Given the description of an element on the screen output the (x, y) to click on. 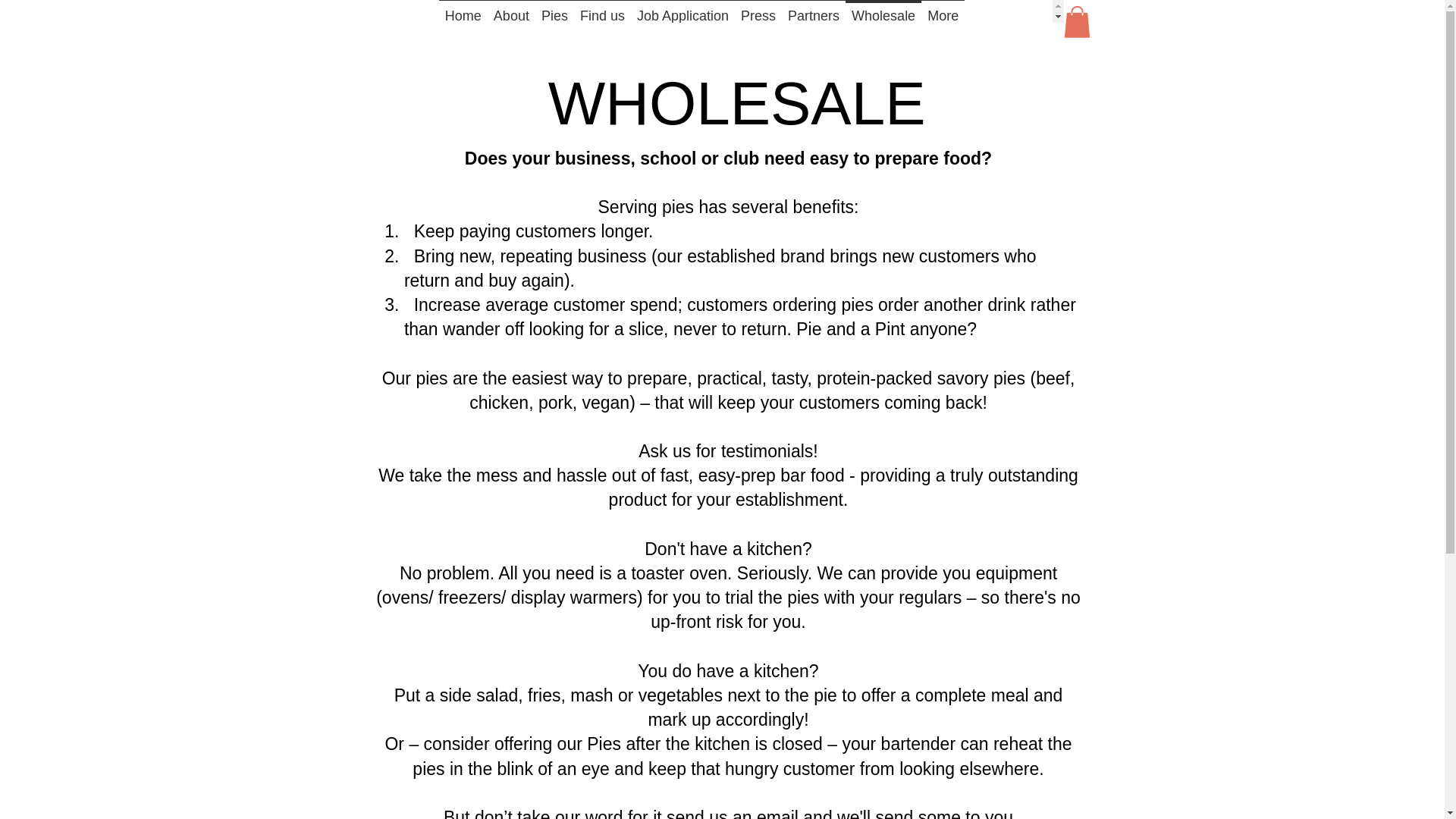
Pies (554, 11)
Partners (813, 11)
Home (463, 11)
Find us (601, 11)
Press (758, 11)
About (511, 11)
Wholesale (883, 11)
Job Application (682, 11)
